Given the description of an element on the screen output the (x, y) to click on. 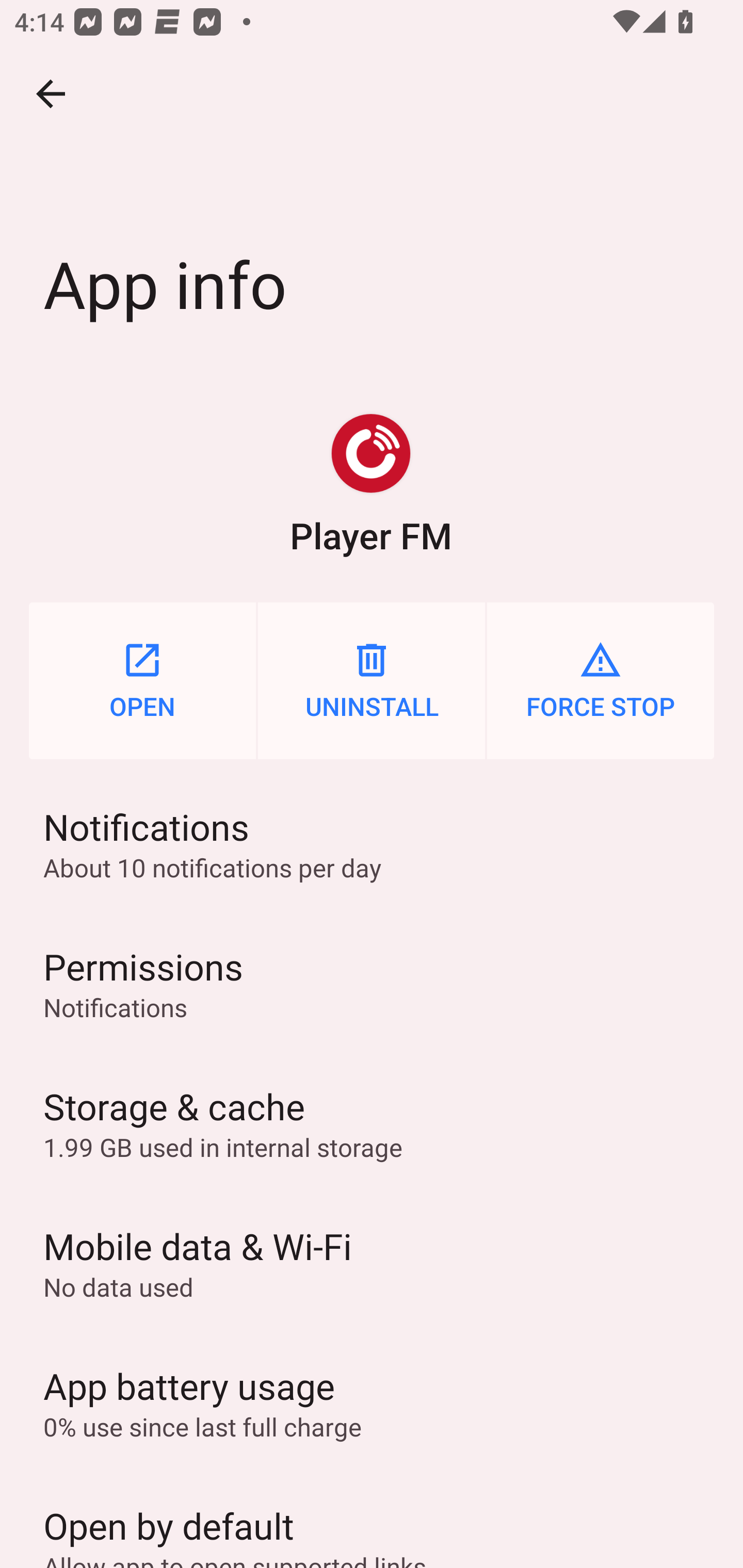
Navigate up (50, 93)
OPEN (141, 680)
UNINSTALL (371, 680)
FORCE STOP (600, 680)
Notifications About 10 notifications per day (371, 843)
Permissions Notifications (371, 983)
Storage & cache 1.99 GB used in internal storage (371, 1123)
Mobile data & Wi‑Fi No data used (371, 1262)
App battery usage 0% use since last full charge (371, 1402)
Open by default Allow app to open supported links (371, 1520)
